Given the description of an element on the screen output the (x, y) to click on. 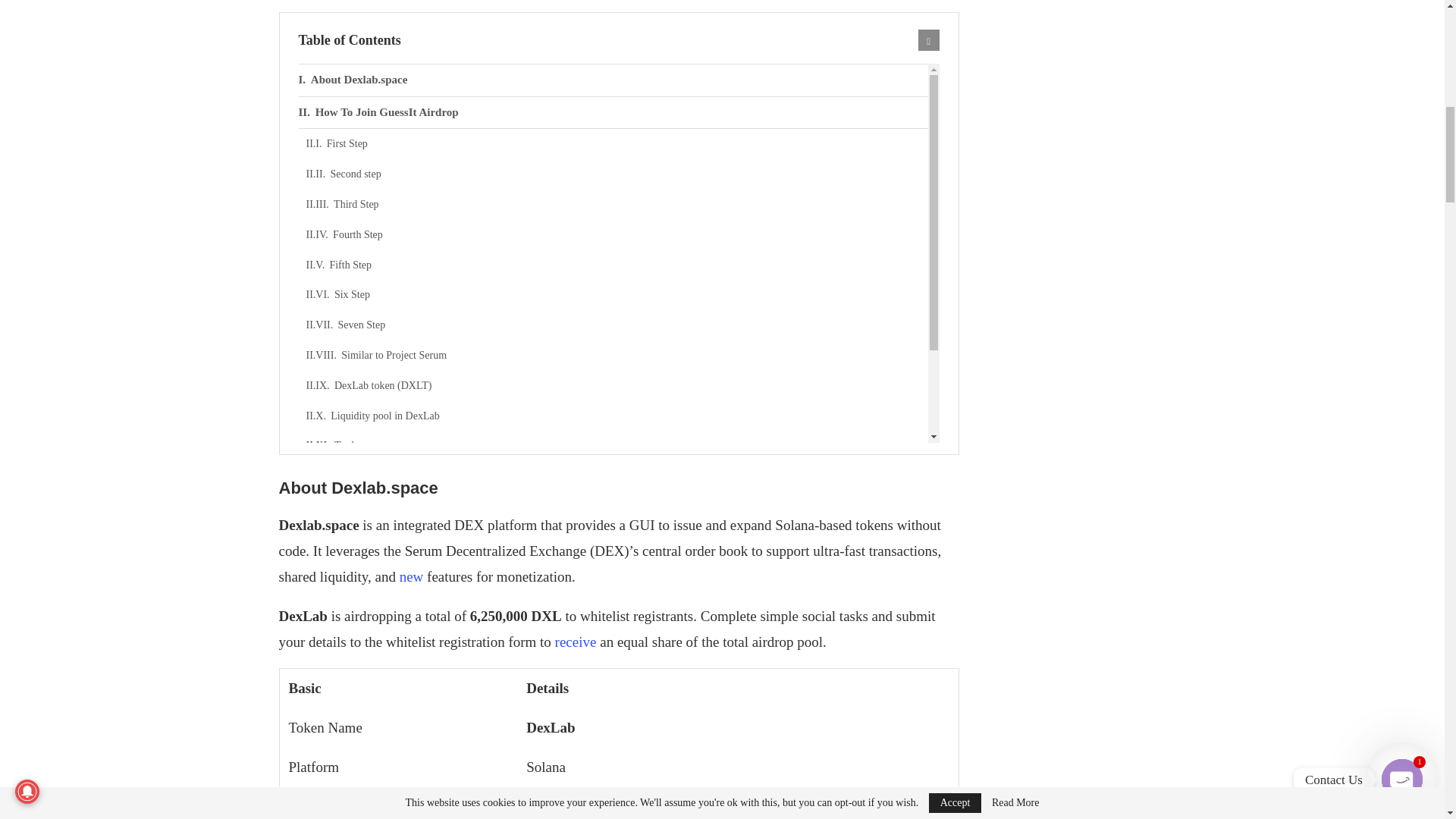
Fifth Step (616, 265)
Liquidity pool in DexLab (616, 416)
Third Step (616, 204)
About Dexlab.space (613, 80)
Six Step (616, 295)
Similar to Project Serum (616, 355)
Fourth Step (616, 235)
How To Join GuessIt Airdrop (613, 112)
Seven Step (616, 325)
Second step (616, 173)
First Step (616, 143)
